Given the description of an element on the screen output the (x, y) to click on. 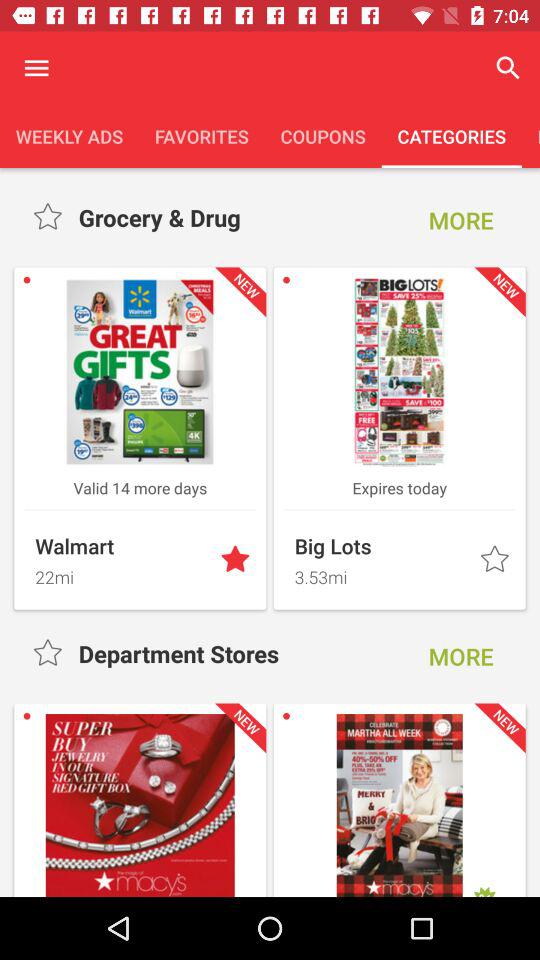
select the icon below walmart (121, 574)
